Given the description of an element on the screen output the (x, y) to click on. 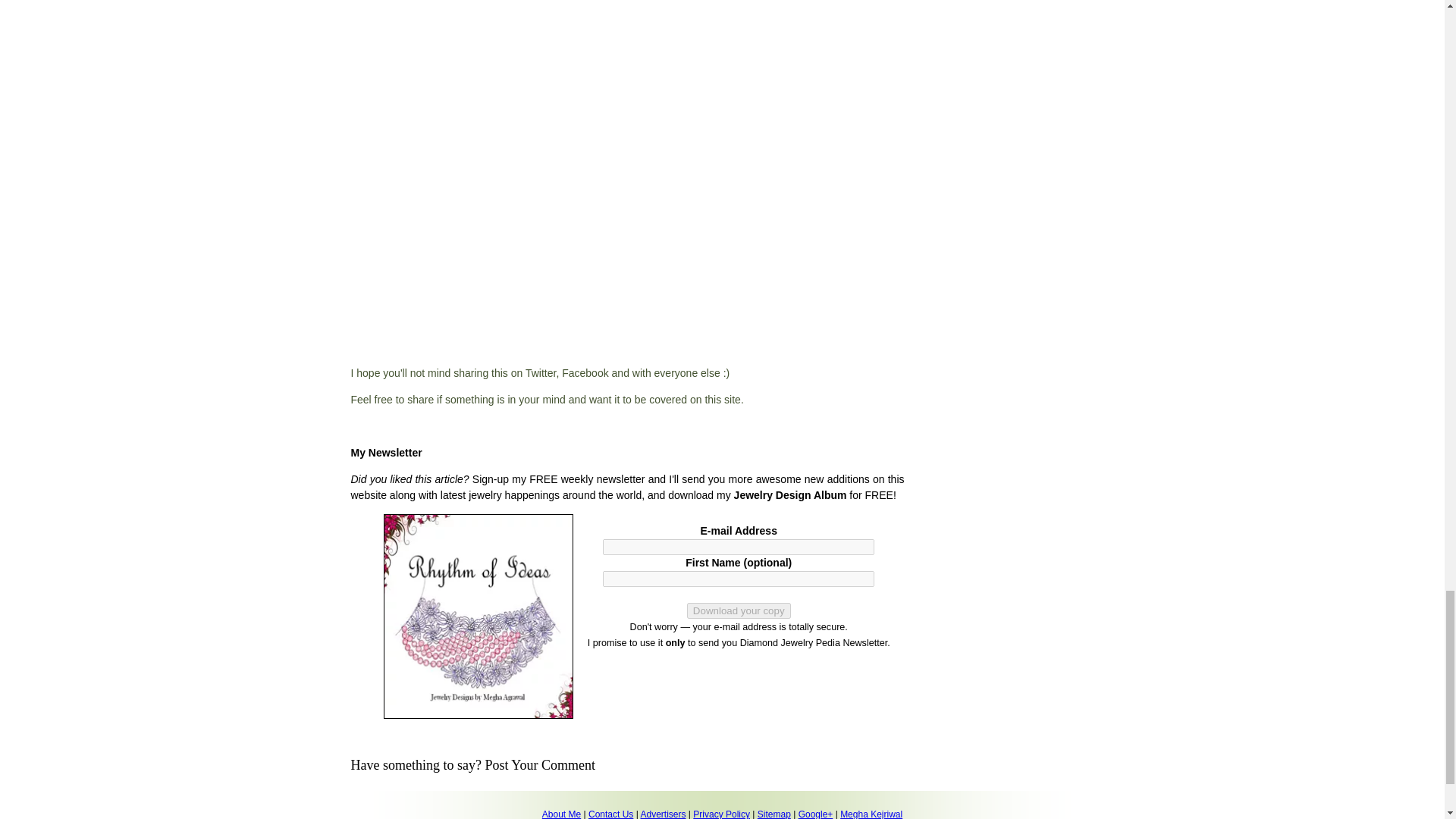
Download your copy (738, 610)
